Given the description of an element on the screen output the (x, y) to click on. 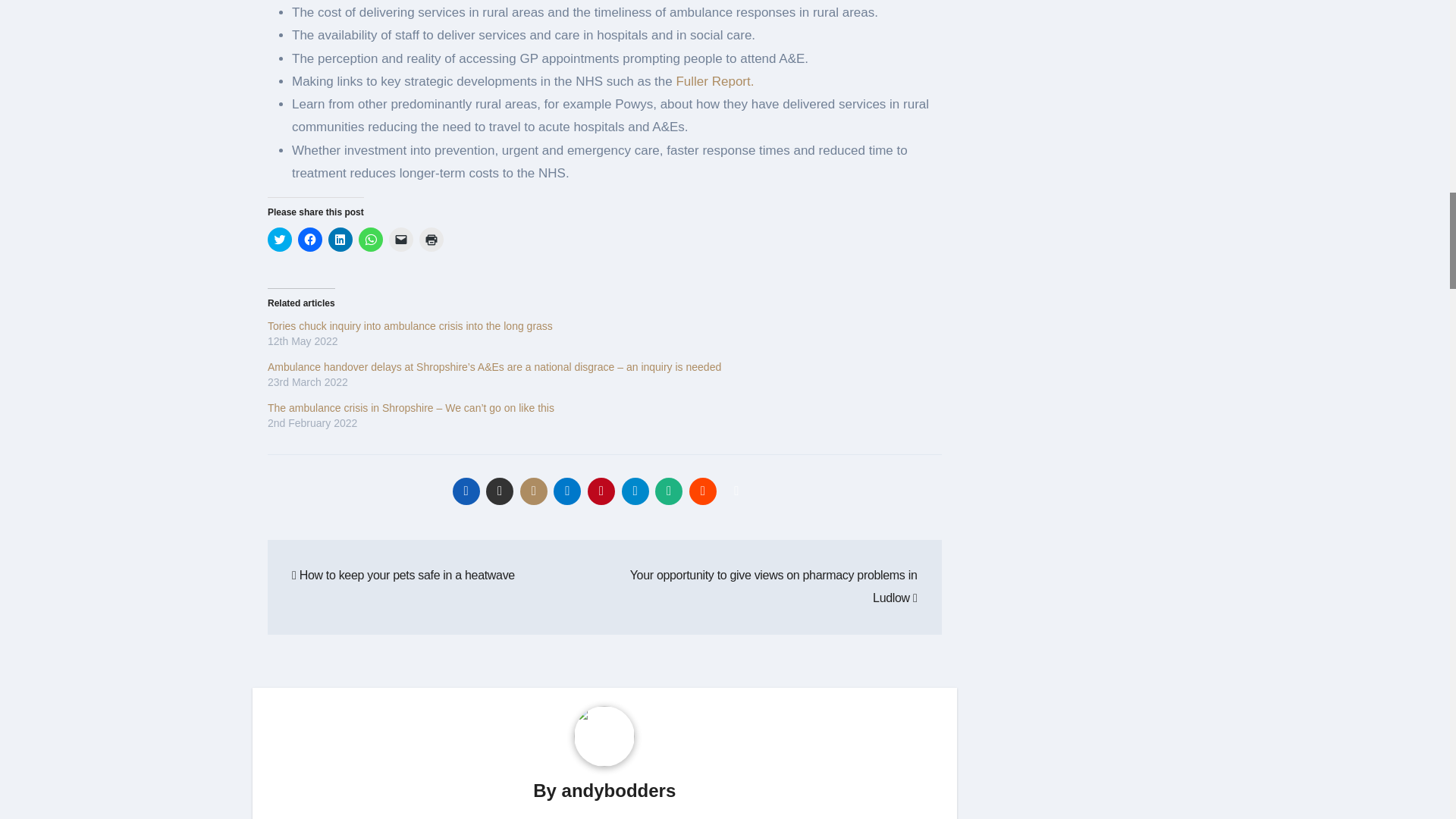
Fuller Report. (714, 81)
Click to share on WhatsApp (370, 239)
Click to share on LinkedIn (340, 239)
Click to share on Twitter (279, 239)
Click to share on Facebook (309, 239)
Click to email a link to a friend (400, 239)
